Given the description of an element on the screen output the (x, y) to click on. 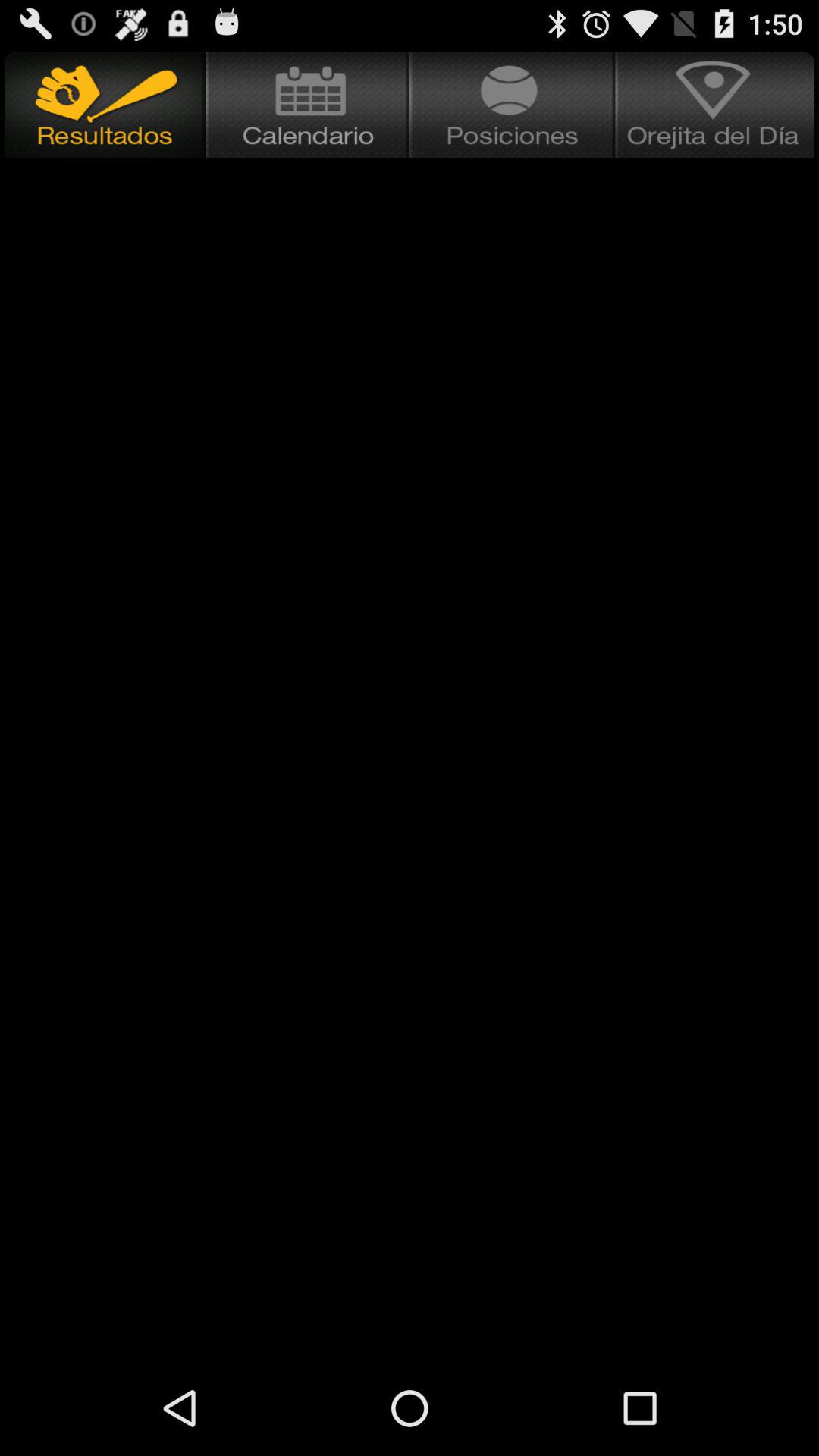
open calendar (307, 104)
